Given the description of an element on the screen output the (x, y) to click on. 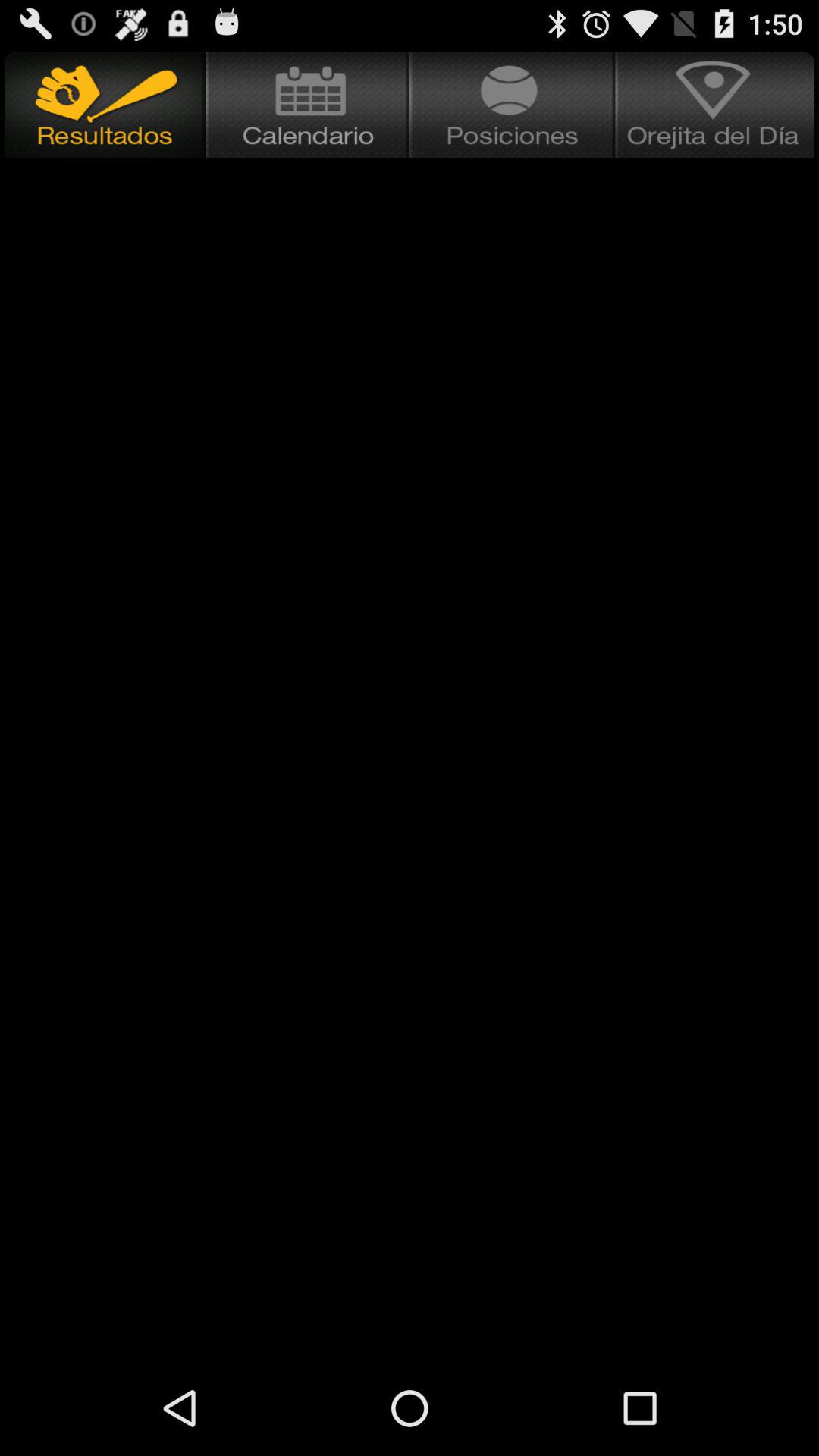
open calendar (307, 104)
